Given the description of an element on the screen output the (x, y) to click on. 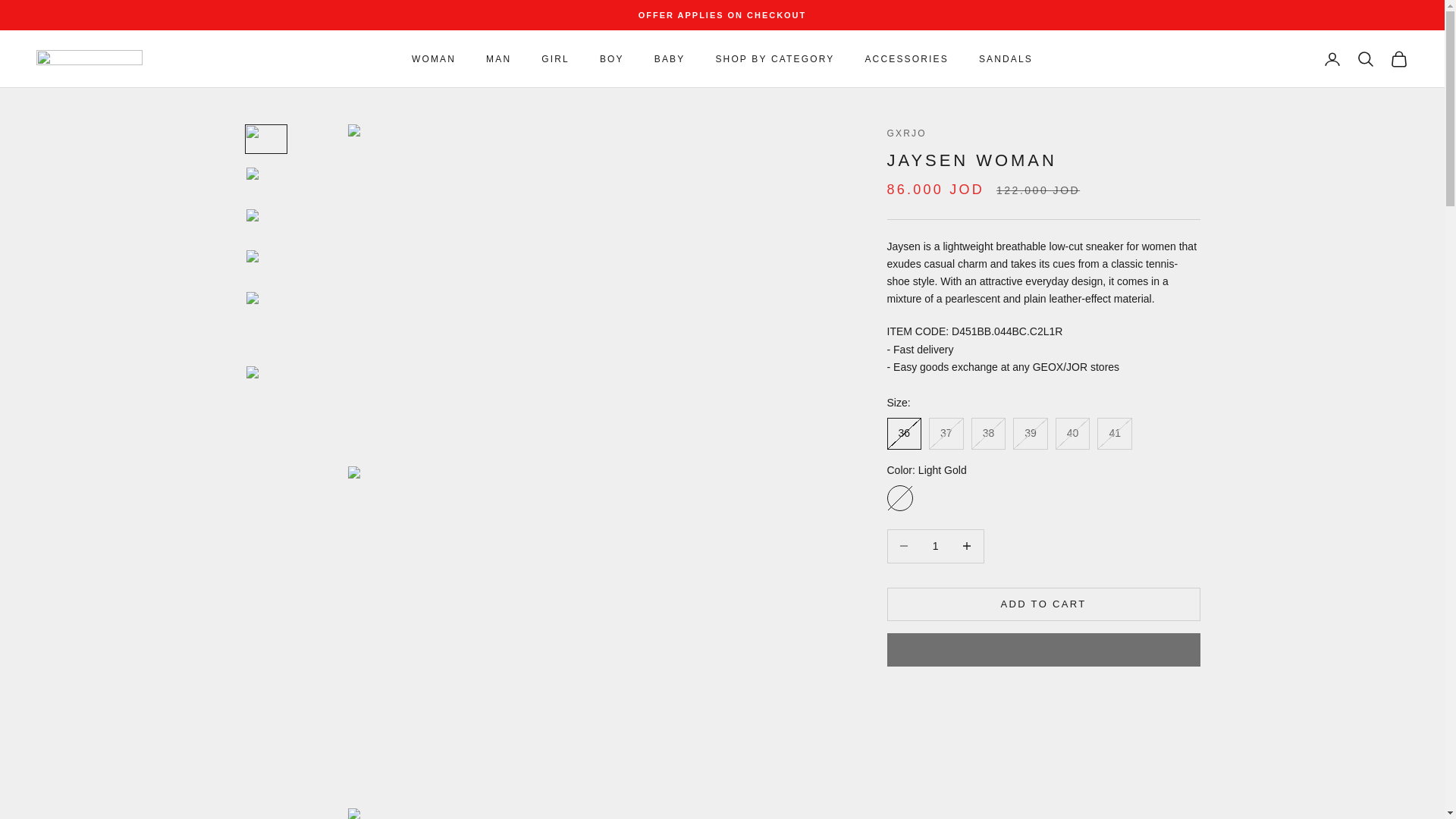
GXRJO (89, 58)
1 (935, 545)
